Given the description of an element on the screen output the (x, y) to click on. 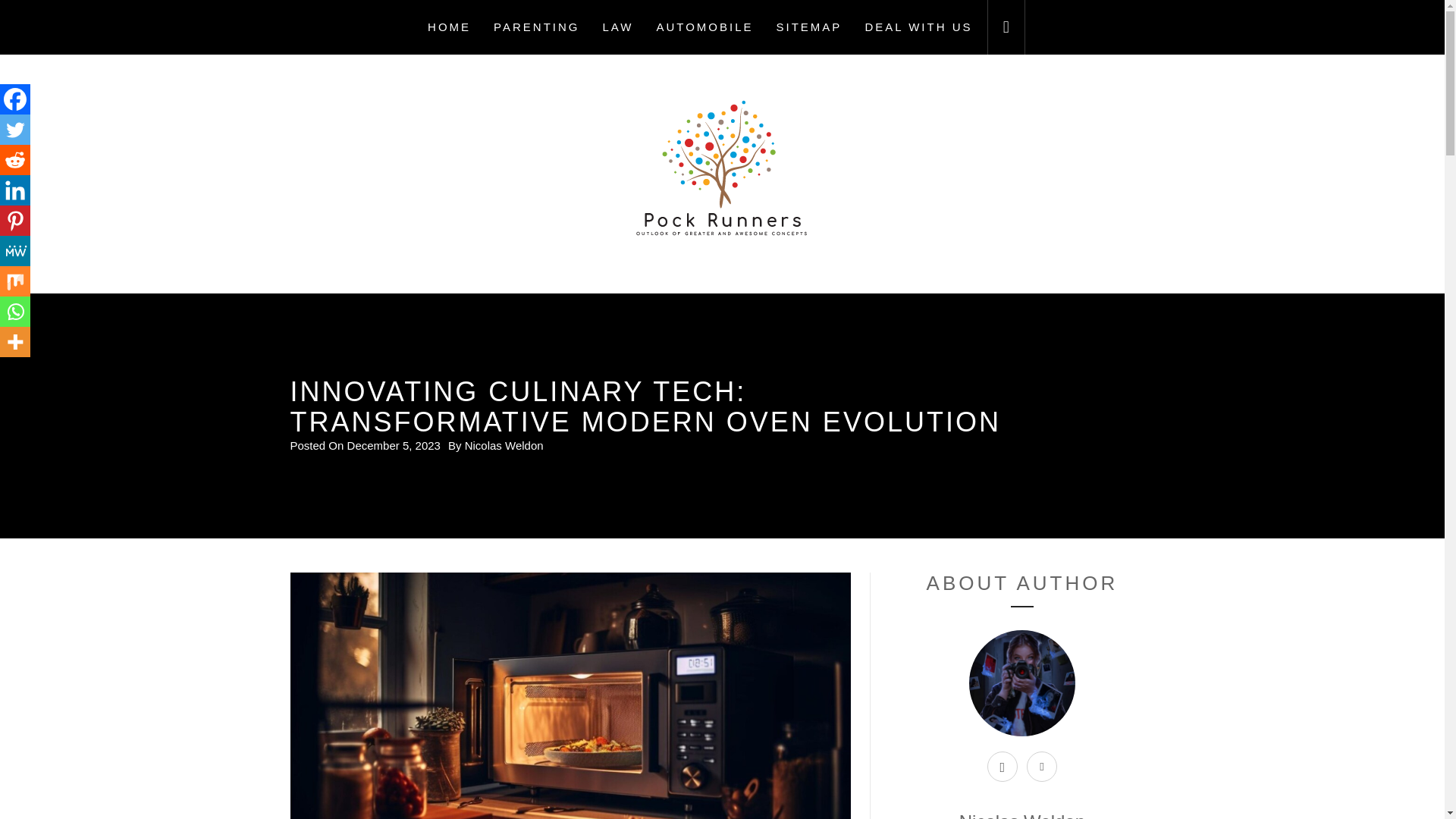
Linkedin (15, 190)
Facebook (15, 99)
HOME (448, 27)
Twitter (15, 129)
December 5, 2023 (394, 445)
LAW (618, 27)
POCK RUNNERS (721, 291)
PARENTING (536, 27)
Nicolas Weldon (503, 445)
Reddit (15, 159)
SITEMAP (809, 27)
Search (797, 408)
DEAL WITH US (918, 27)
AUTOMOBILE (704, 27)
